Given the description of an element on the screen output the (x, y) to click on. 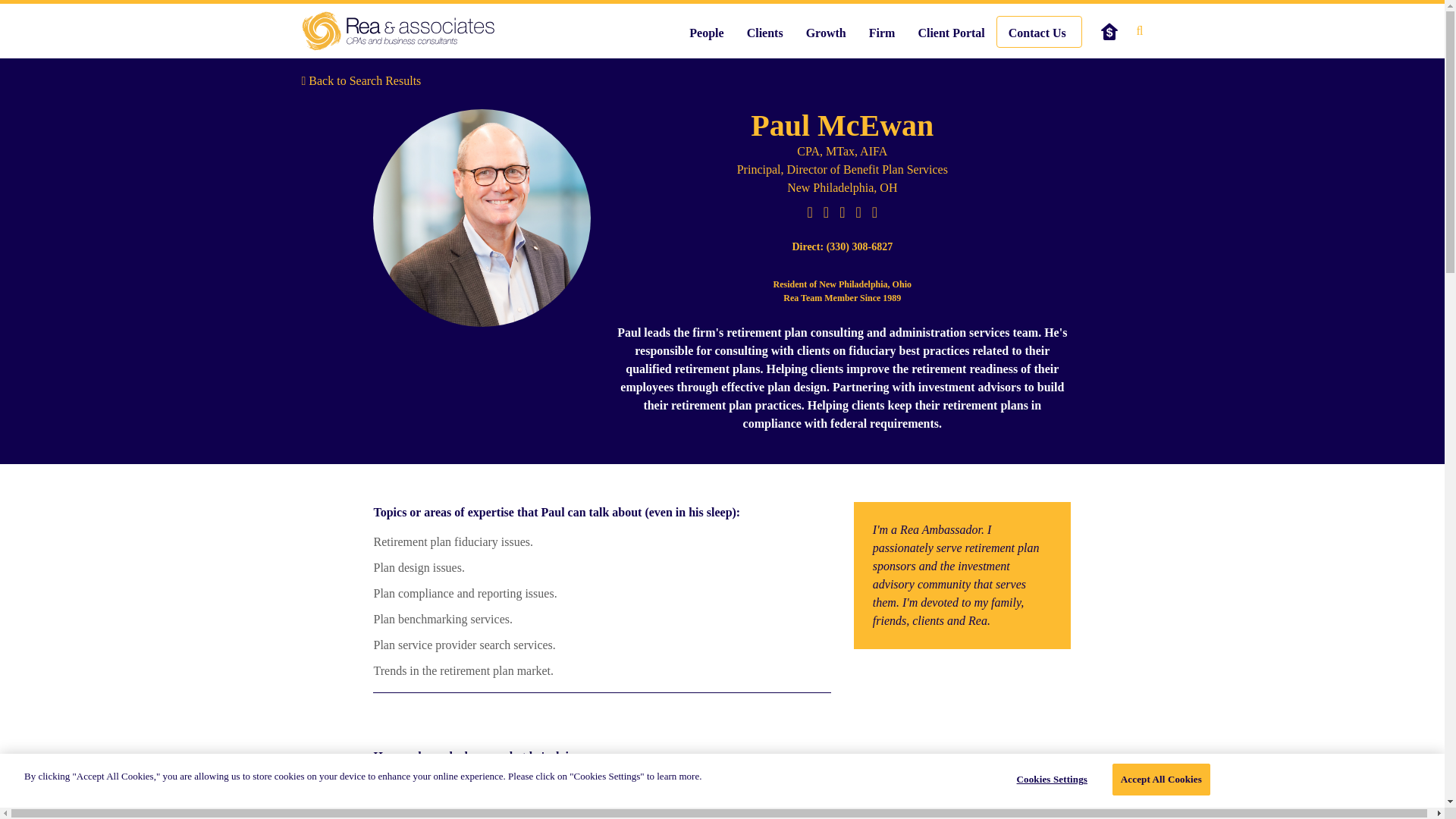
Firm (882, 38)
People (706, 38)
Growth (825, 38)
Growth (825, 32)
People (706, 32)
Client Portal (950, 38)
Clients (764, 32)
Clients (764, 38)
